Given the description of an element on the screen output the (x, y) to click on. 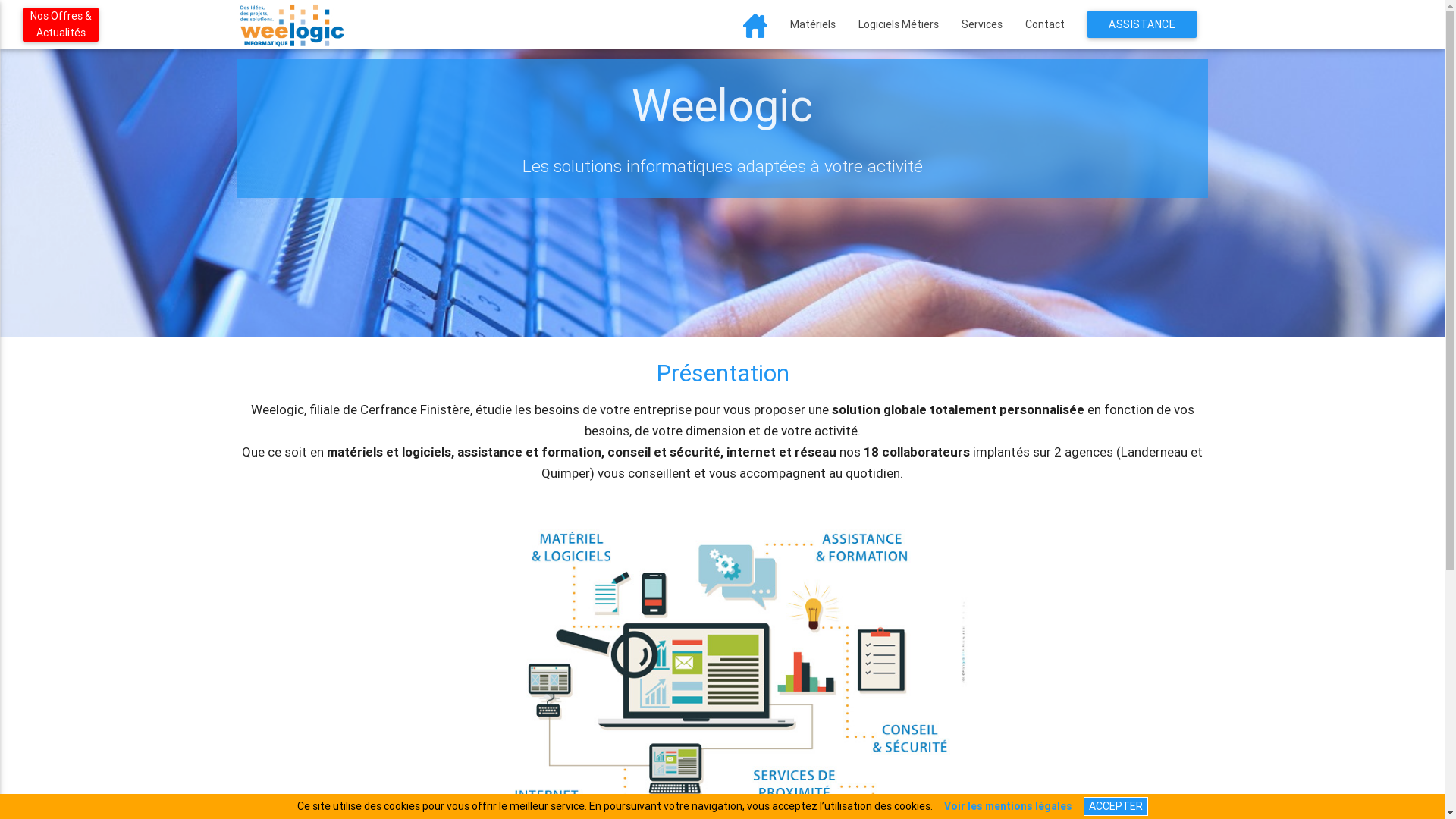
Services Element type: text (981, 24)
ACCEPTER Element type: text (1114, 806)
ASSISTANCE Element type: text (1141, 23)
Contact Element type: text (1044, 24)
